Given the description of an element on the screen output the (x, y) to click on. 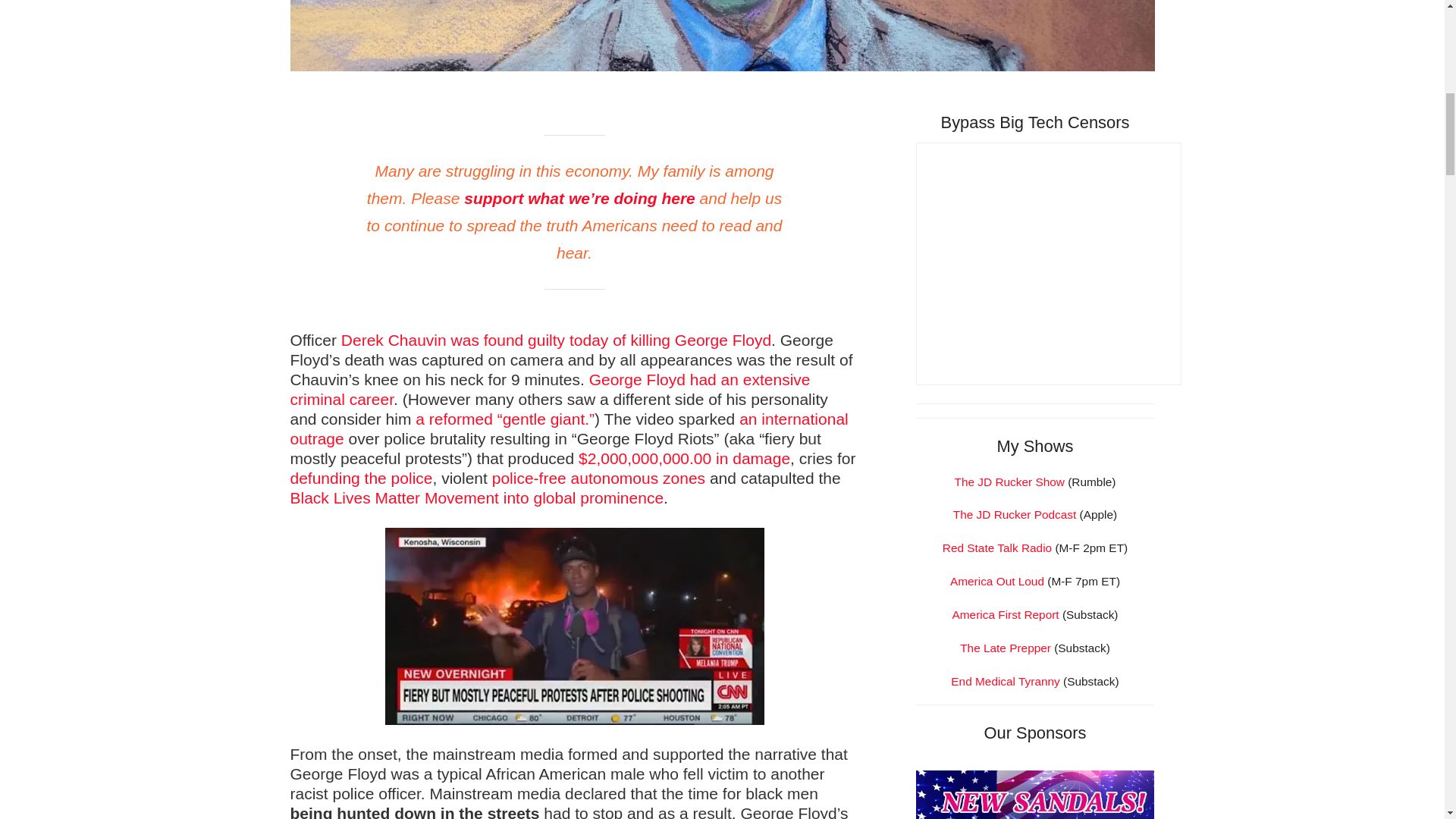
police-free autonomous zones (598, 477)
Black Lives Matter Movement into global prominence (476, 497)
an international outrage (568, 428)
Derek Chauvin was found guilty today of killing George Floyd (555, 339)
defunding the police (360, 477)
George Floyd had an extensive criminal career (549, 389)
